Given the description of an element on the screen output the (x, y) to click on. 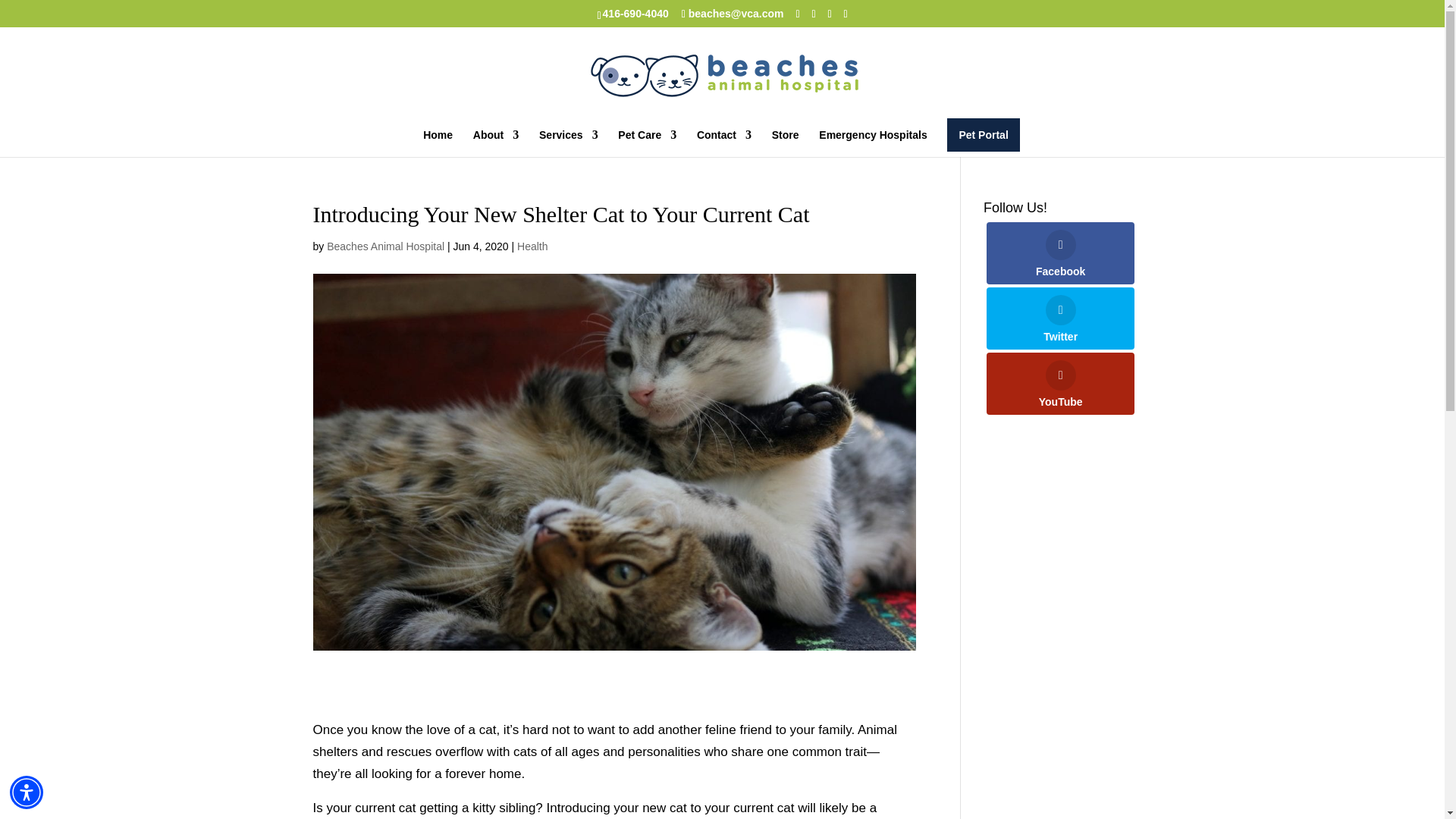
Pet Care (647, 143)
416-690-4040 (635, 13)
Home (437, 143)
Accessibility Menu (26, 792)
Posts by Beaches Animal Hospital (385, 246)
Services (568, 143)
Contact (724, 143)
About (495, 143)
